Given the description of an element on the screen output the (x, y) to click on. 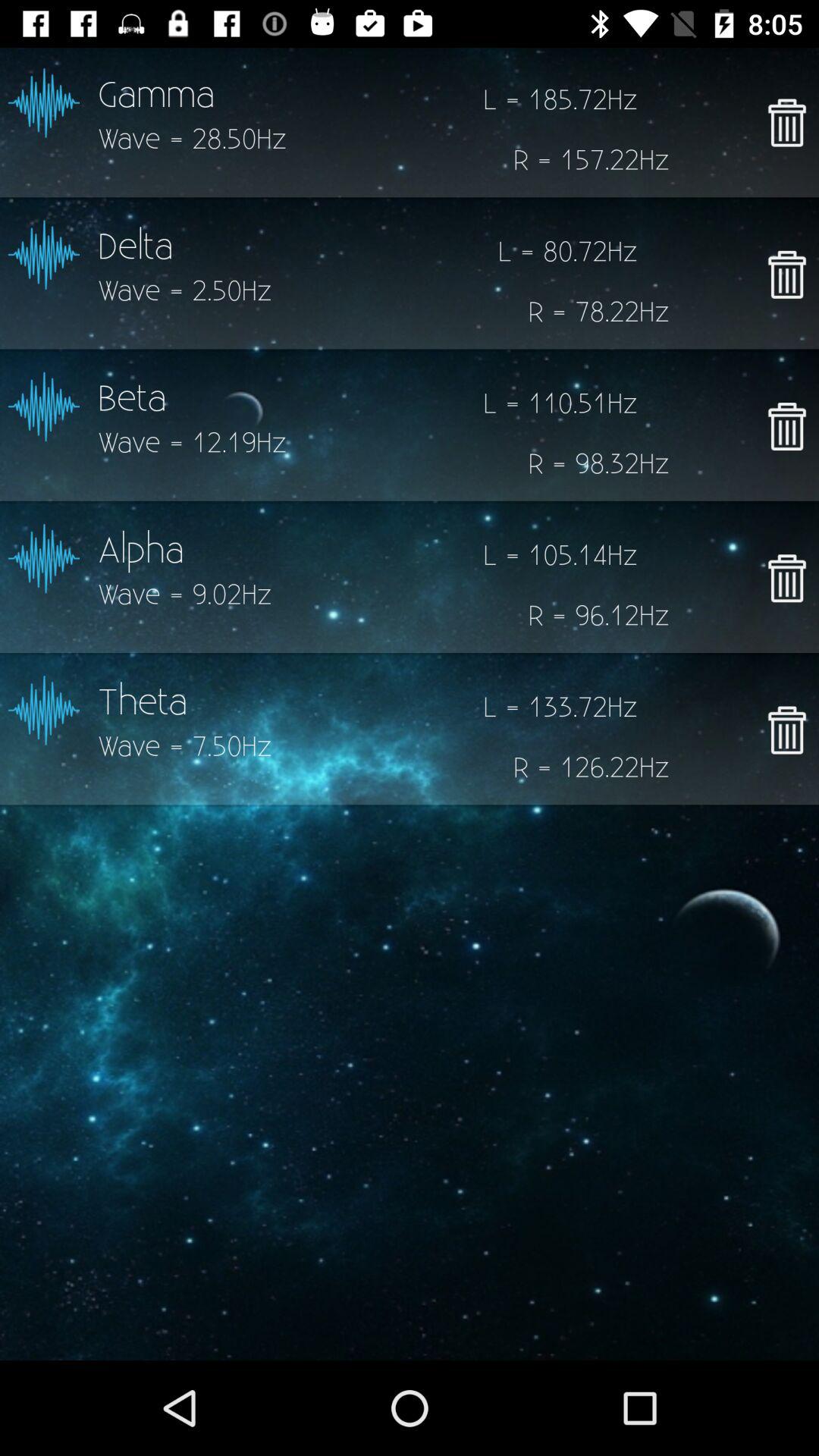
delete option (787, 273)
